Given the description of an element on the screen output the (x, y) to click on. 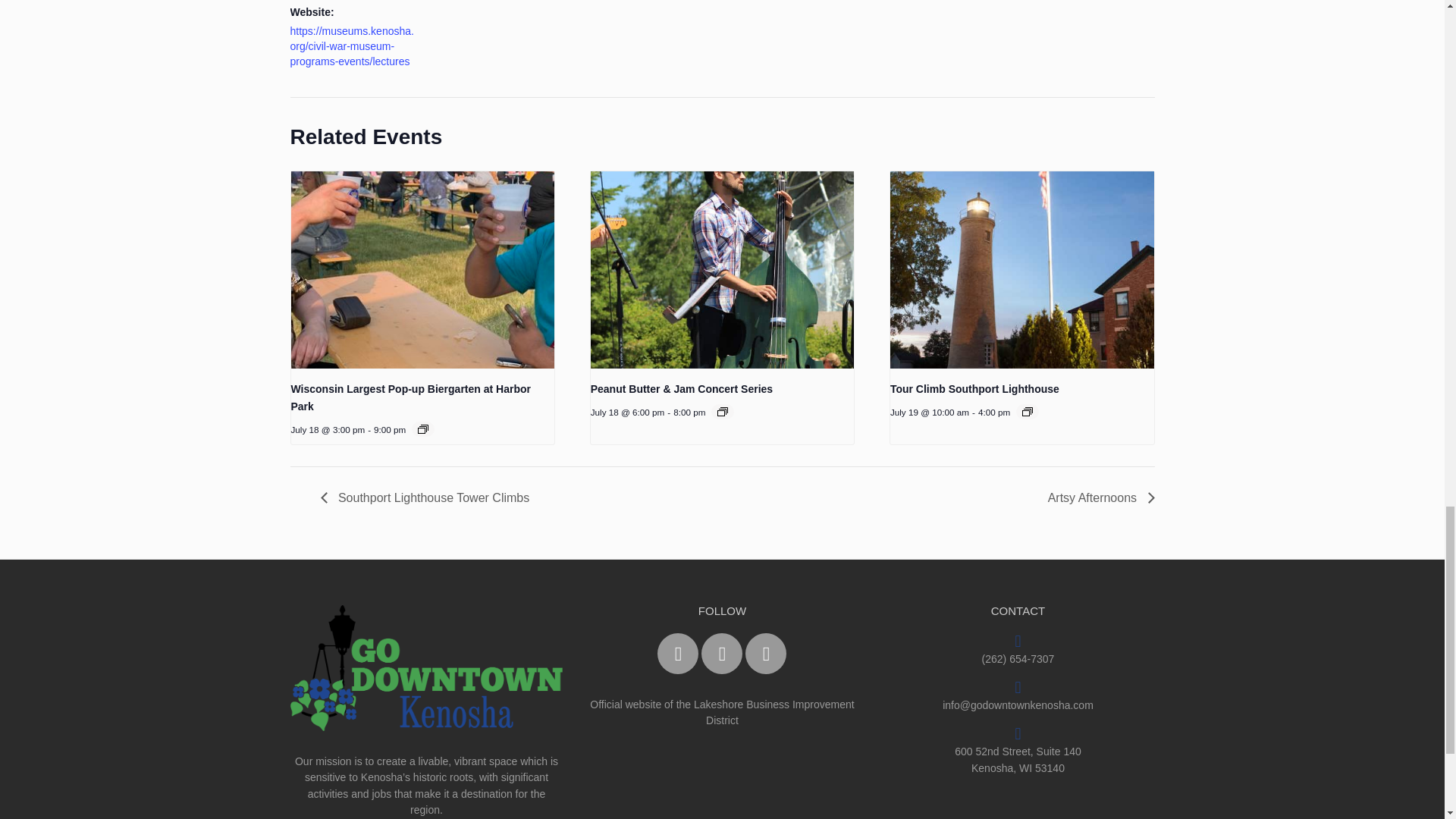
southport (890, 182)
peanut (590, 182)
Event Series (722, 411)
Event Series (422, 429)
Chamber Pop-up Biergarten (290, 135)
Event Series (1027, 411)
